Given the description of an element on the screen output the (x, y) to click on. 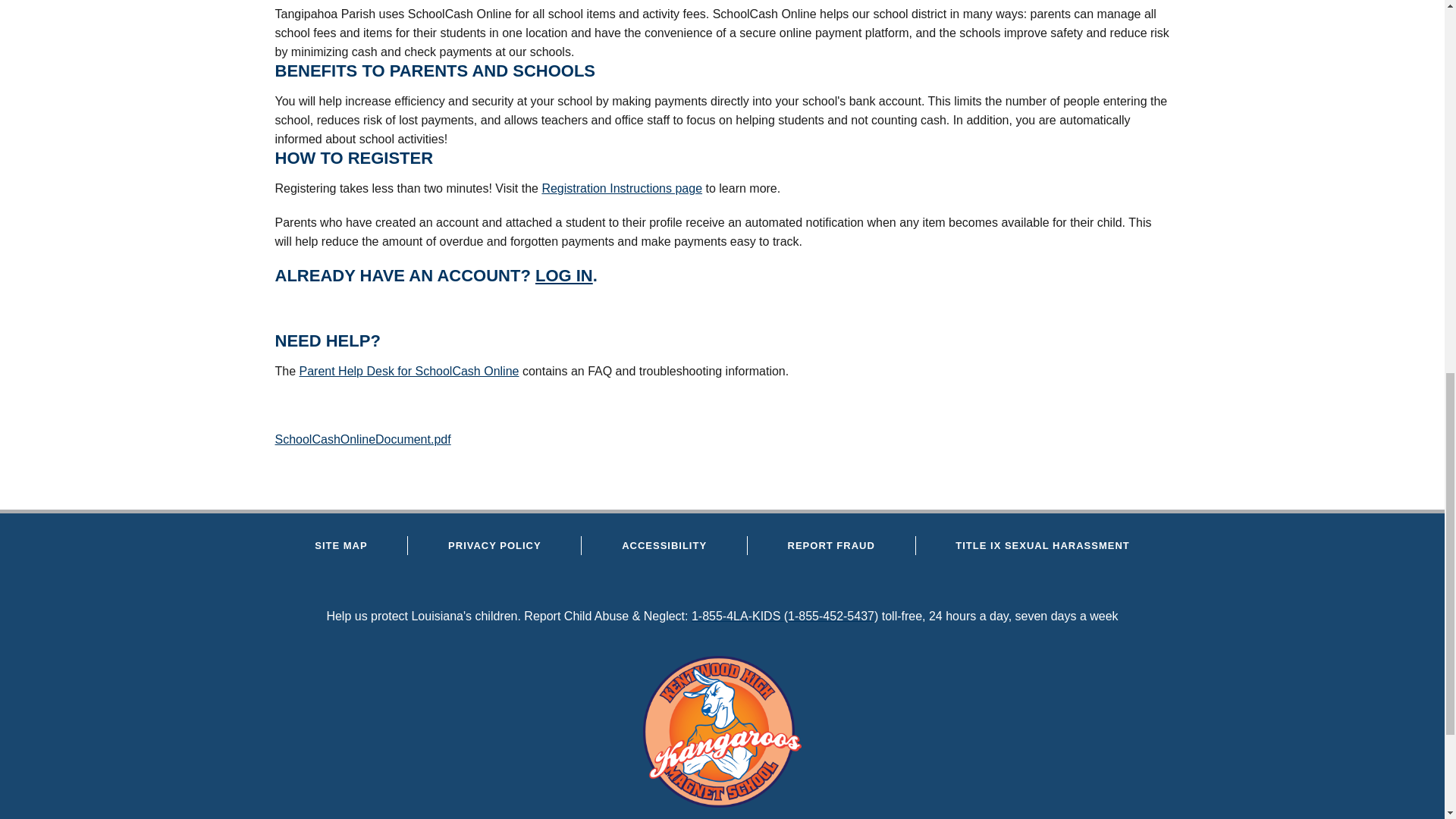
School Cash Online Help Document (362, 439)
